Given the description of an element on the screen output the (x, y) to click on. 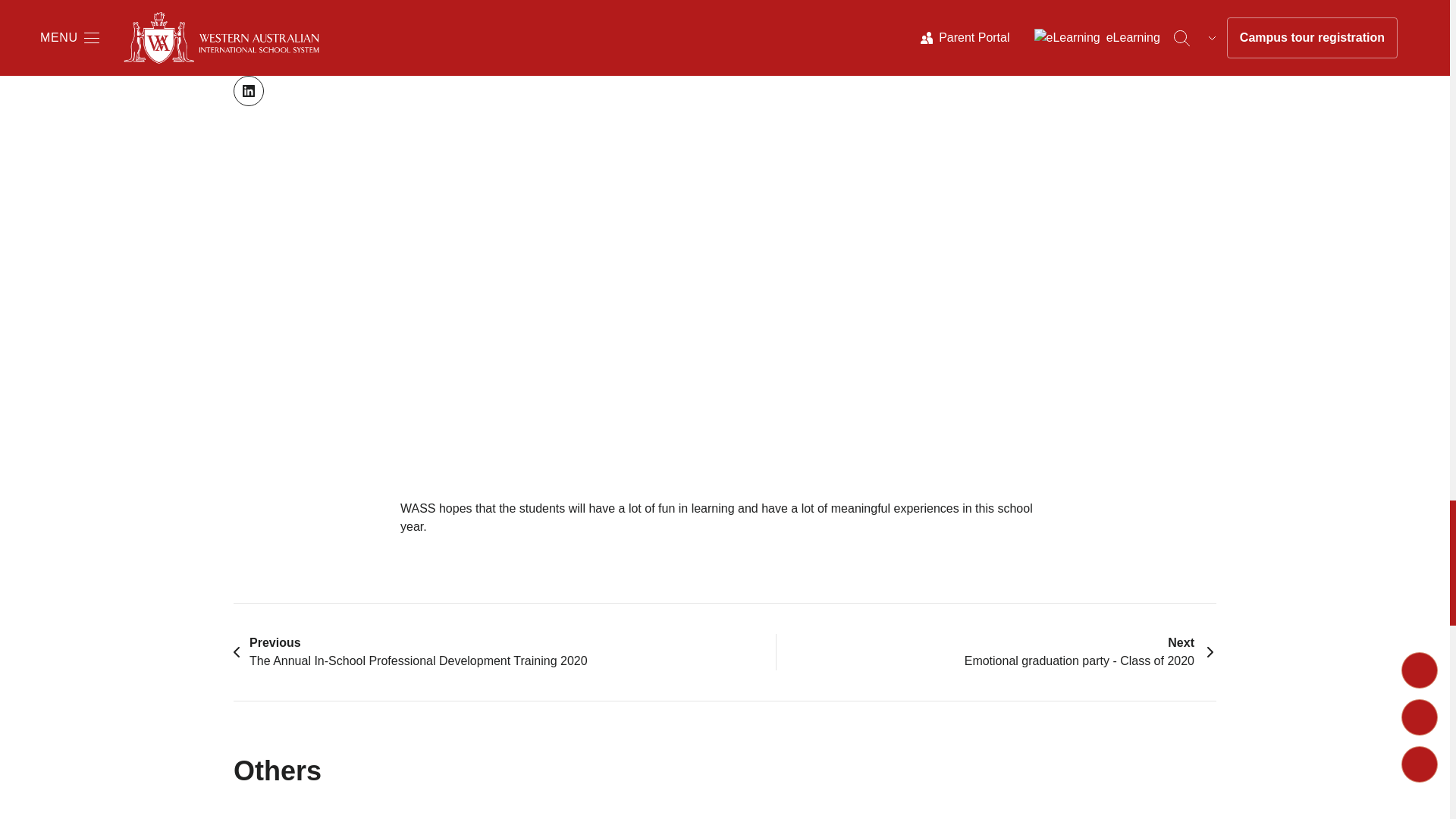
Emotional graduation party - Class of 2020 (1089, 651)
The Annual In-School Professional Development Training 2020 (410, 651)
Explore with Confidence: The Key to the Journey of Growth (1058, 811)
